Given the description of an element on the screen output the (x, y) to click on. 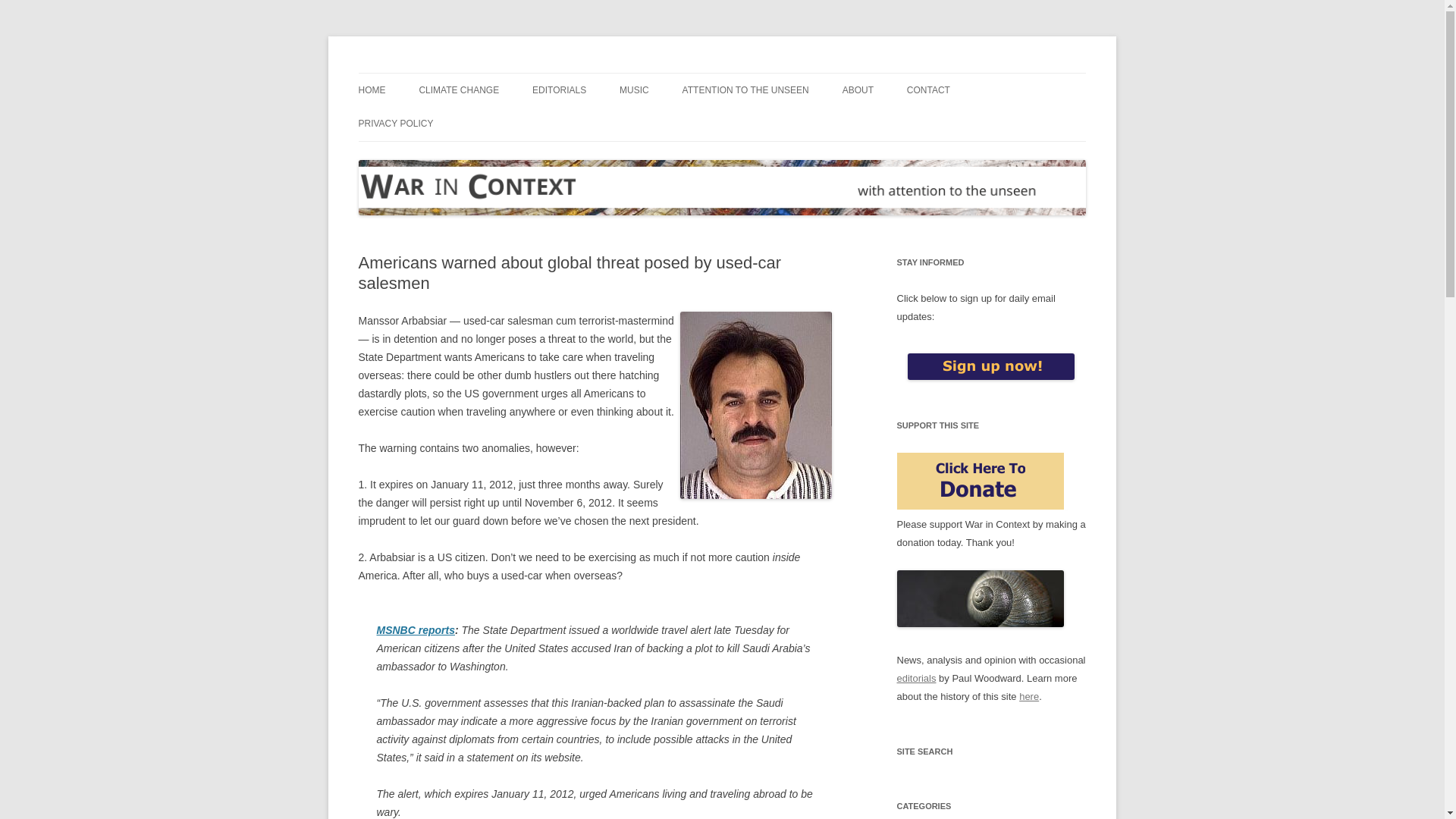
arbabsiar (755, 405)
CLIMATE CHANGE (459, 90)
War in Context (427, 72)
MSNBC reports (414, 630)
editorials (916, 677)
MUSIC (634, 90)
ABOUT (858, 90)
EDITORIALS (559, 90)
ATTENTION TO THE UNSEEN (745, 90)
CONTACT (928, 90)
PRIVACY POLICY (395, 123)
HOME (371, 90)
here (1029, 696)
